Given the description of an element on the screen output the (x, y) to click on. 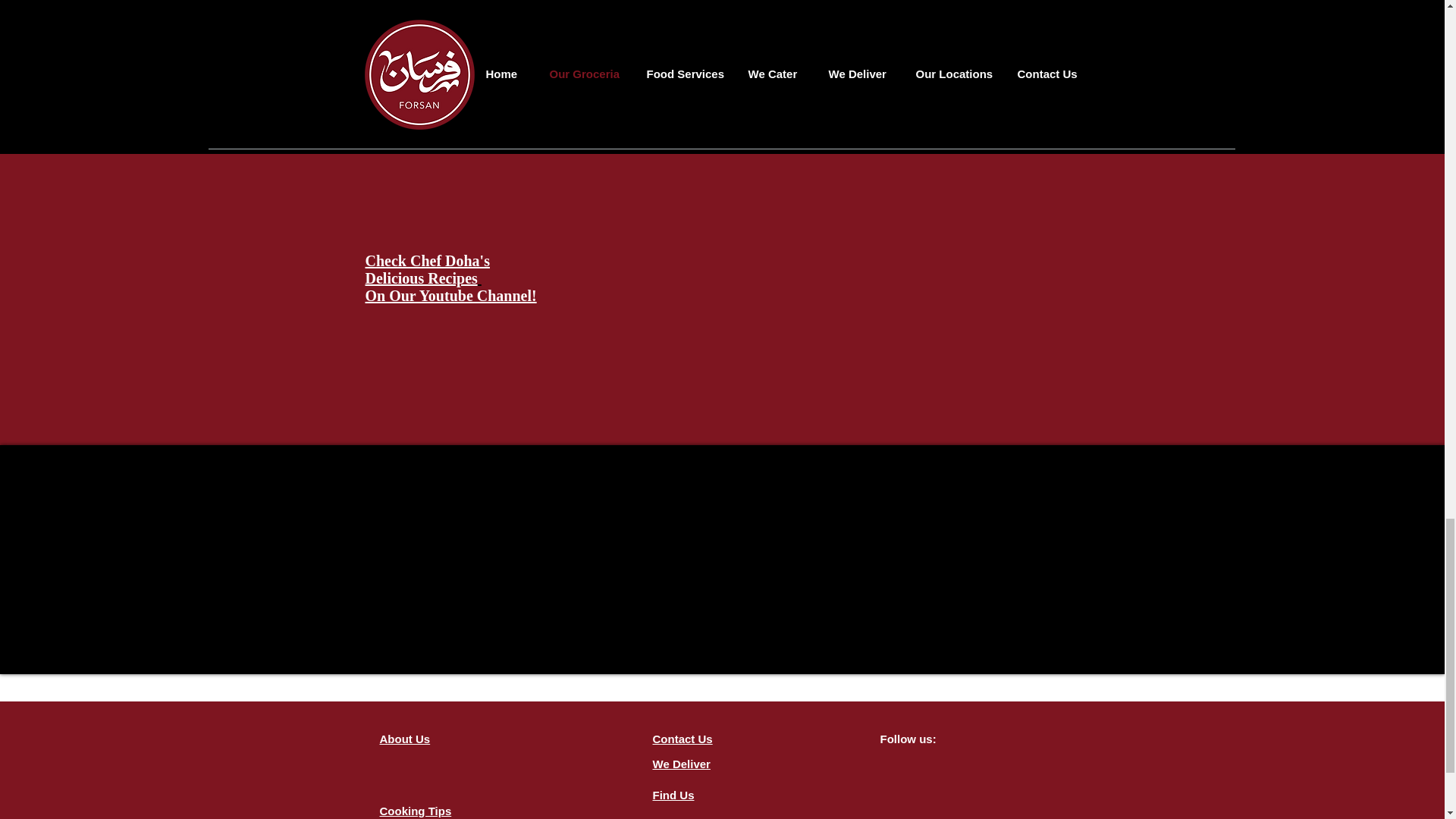
We Deliver (681, 763)
Cooking Tips (414, 810)
Terms And Conditions (451, 277)
Find Us (681, 818)
About Us (673, 794)
Contact Us (403, 738)
